Given the description of an element on the screen output the (x, y) to click on. 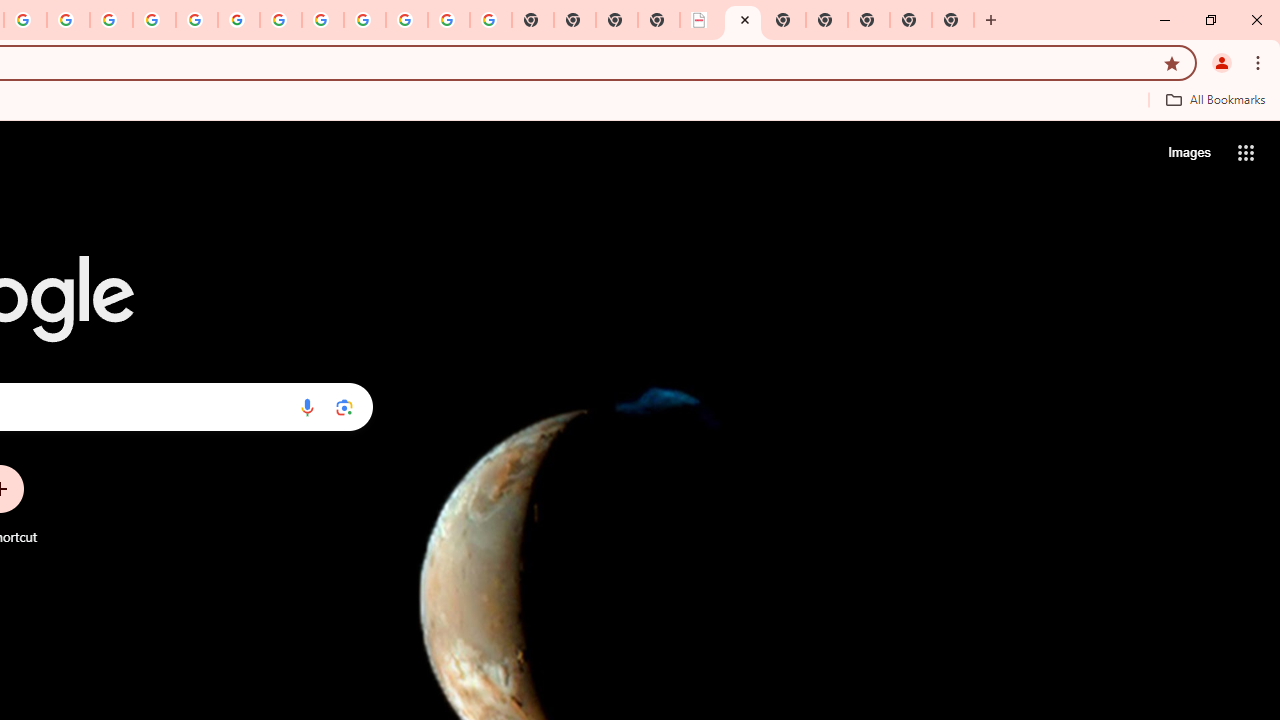
Privacy Help Center - Policies Help (111, 20)
All Bookmarks (1215, 99)
LAAD Defence & Security 2025 | BAE Systems (700, 20)
New Tab (952, 20)
Privacy Help Center - Policies Help (154, 20)
